Given the description of an element on the screen output the (x, y) to click on. 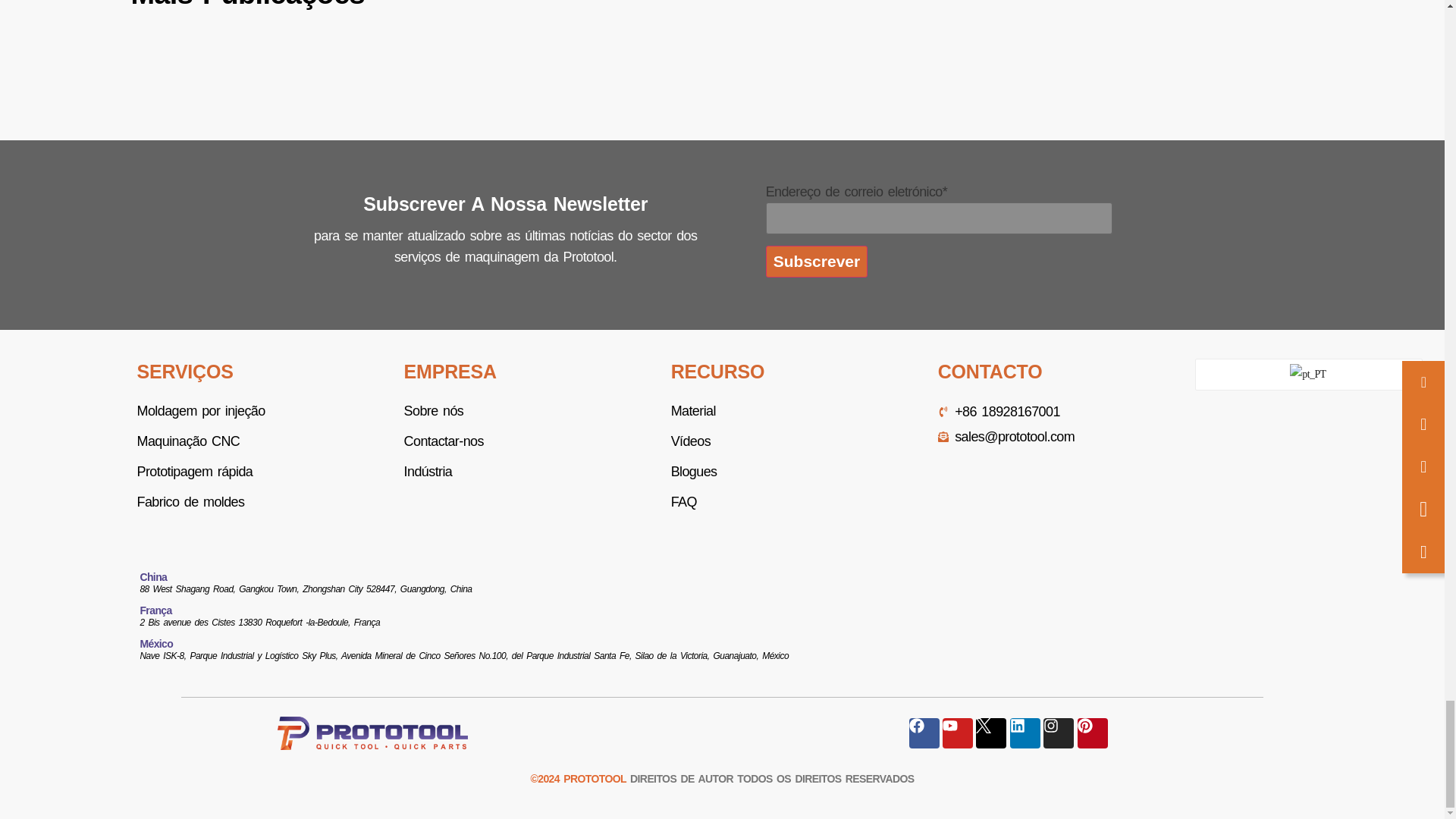
Portuguese (1308, 374)
Subscrever (816, 261)
Portuguese (1307, 373)
